Given the description of an element on the screen output the (x, y) to click on. 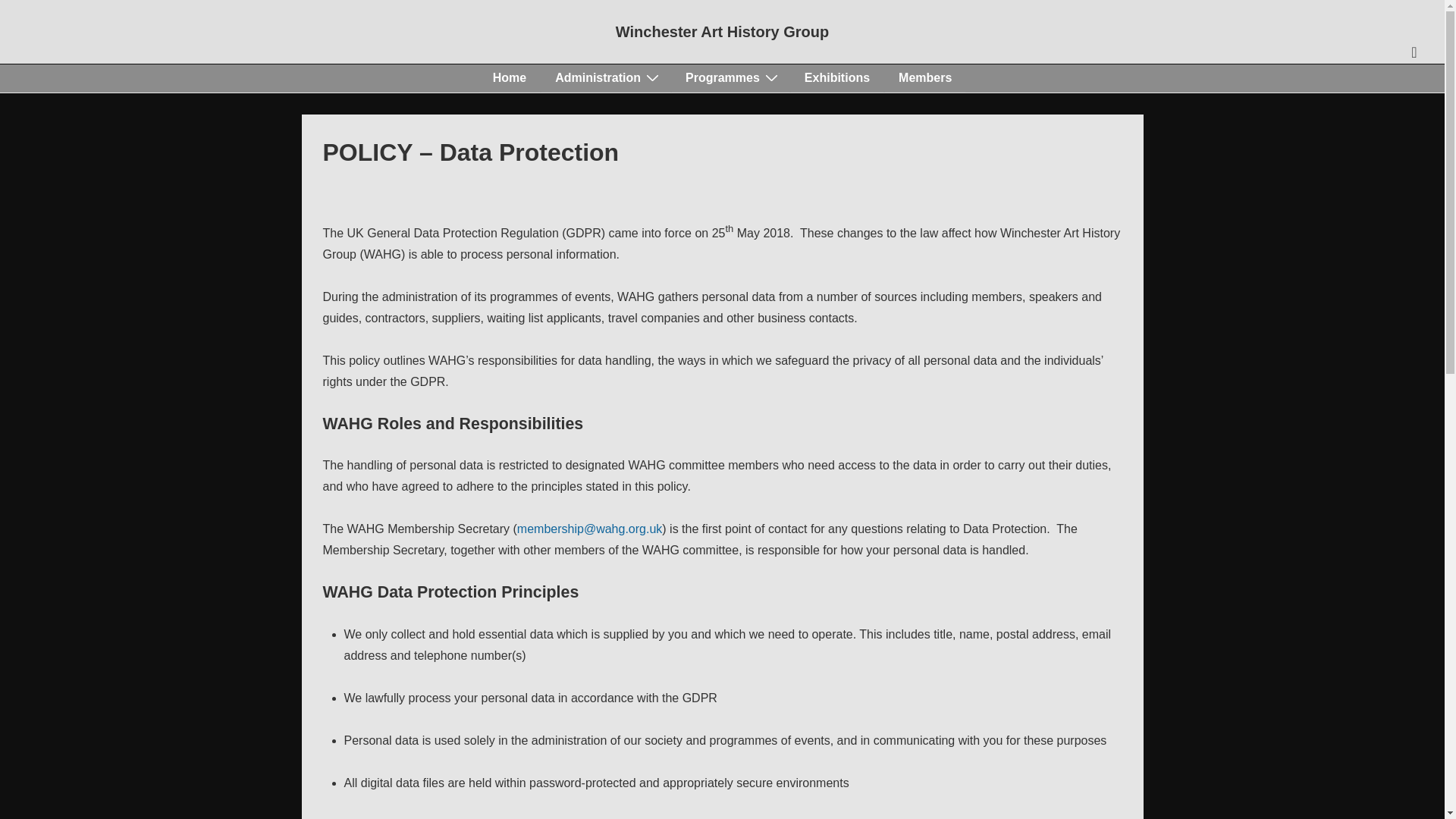
Programmes (730, 77)
Exhibitions (836, 77)
Members (925, 77)
Home (509, 77)
Administration (605, 77)
MENU (1414, 52)
Winchester Art History Group (721, 31)
